Given the description of an element on the screen output the (x, y) to click on. 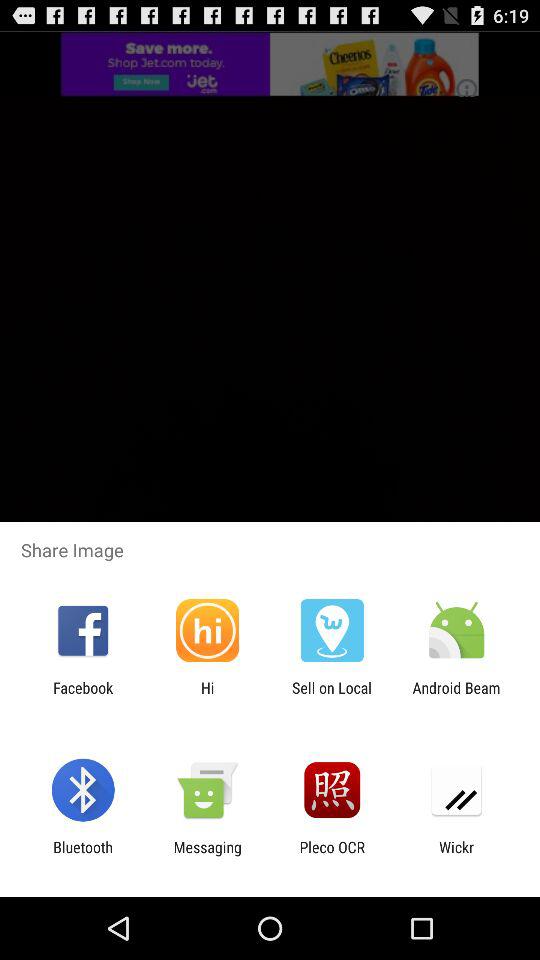
open icon to the left of the hi item (83, 696)
